Given the description of an element on the screen output the (x, y) to click on. 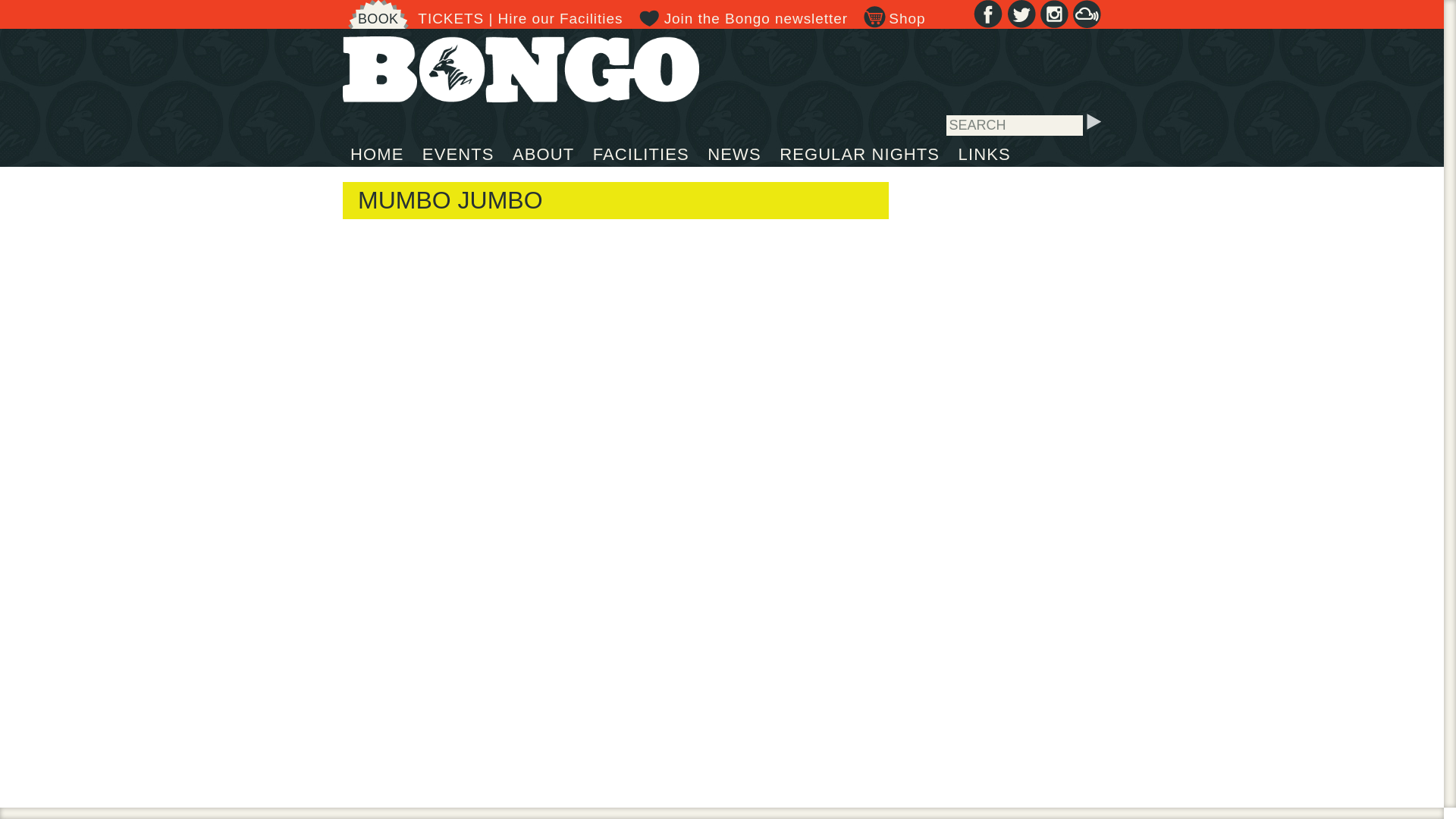
Hire our Facilities (560, 18)
REGULAR NIGHTS (859, 151)
BOOK TICKETS (412, 18)
EVENTS (458, 151)
opens a new window (1021, 20)
opens a new window (1086, 20)
Join the Bongo newsletter (743, 18)
ABOUT (542, 151)
